Given the description of an element on the screen output the (x, y) to click on. 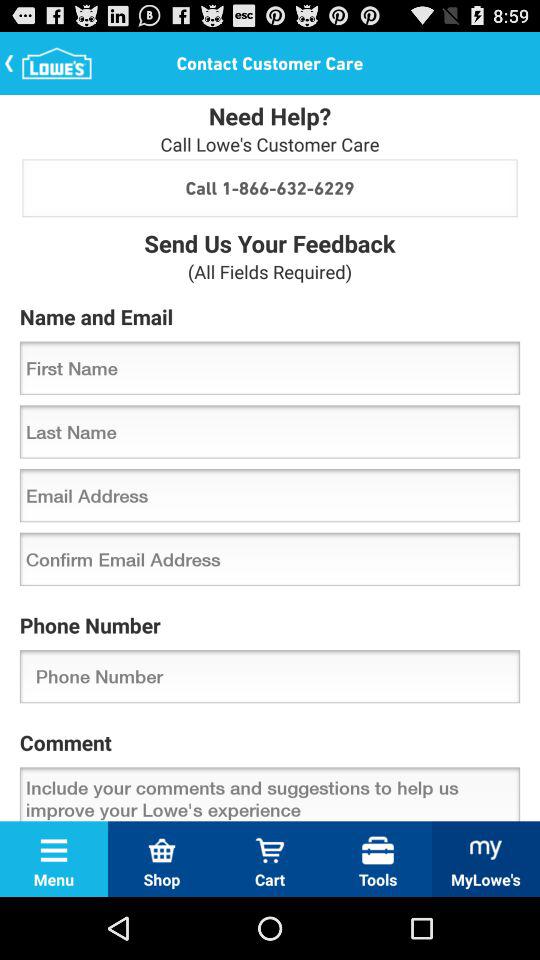
click the item above the send us your item (269, 187)
